Given the description of an element on the screen output the (x, y) to click on. 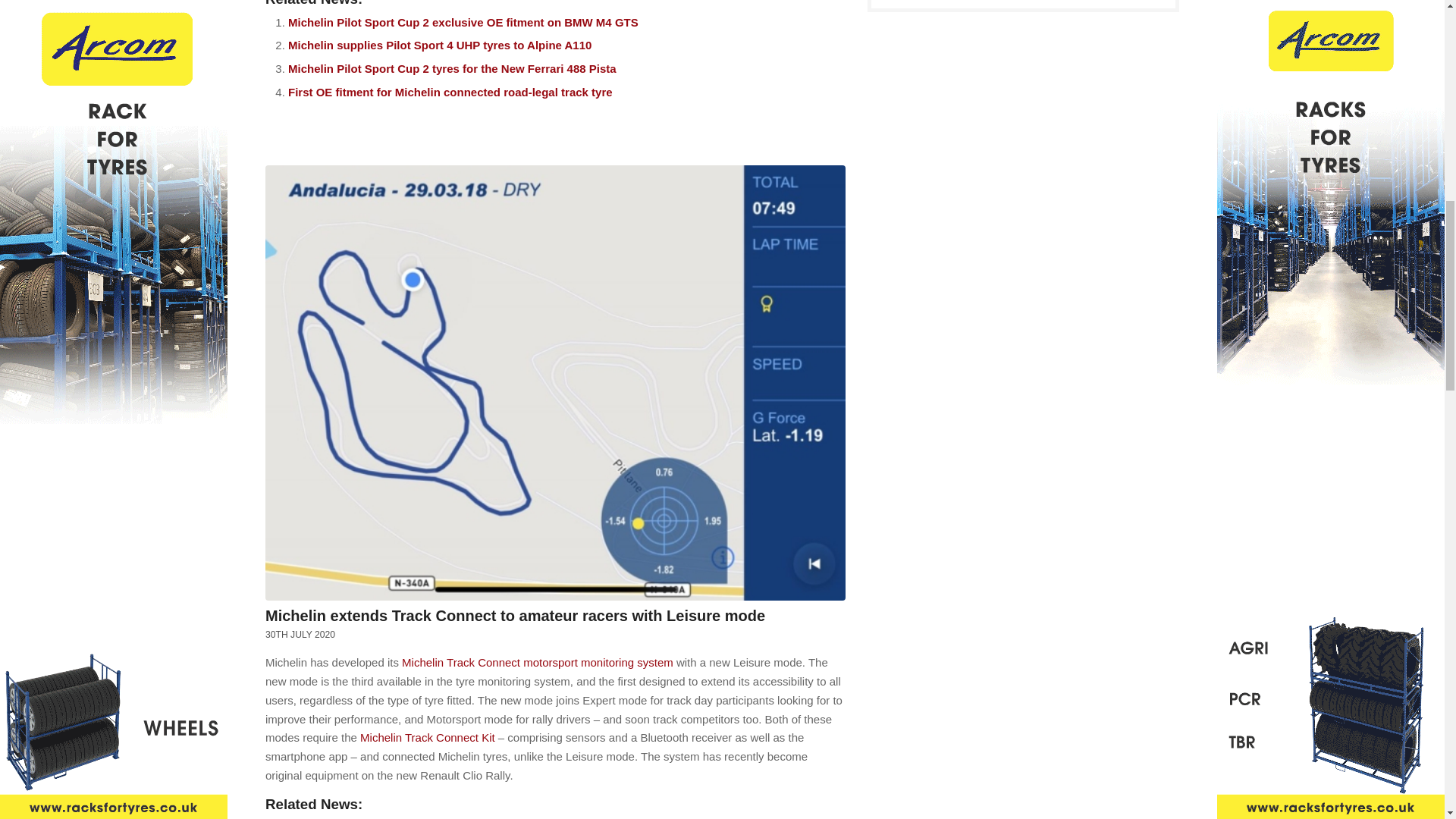
Michelin supplies Pilot Sport 4 UHP tyres to Alpine A110 (439, 44)
